Given the description of an element on the screen output the (x, y) to click on. 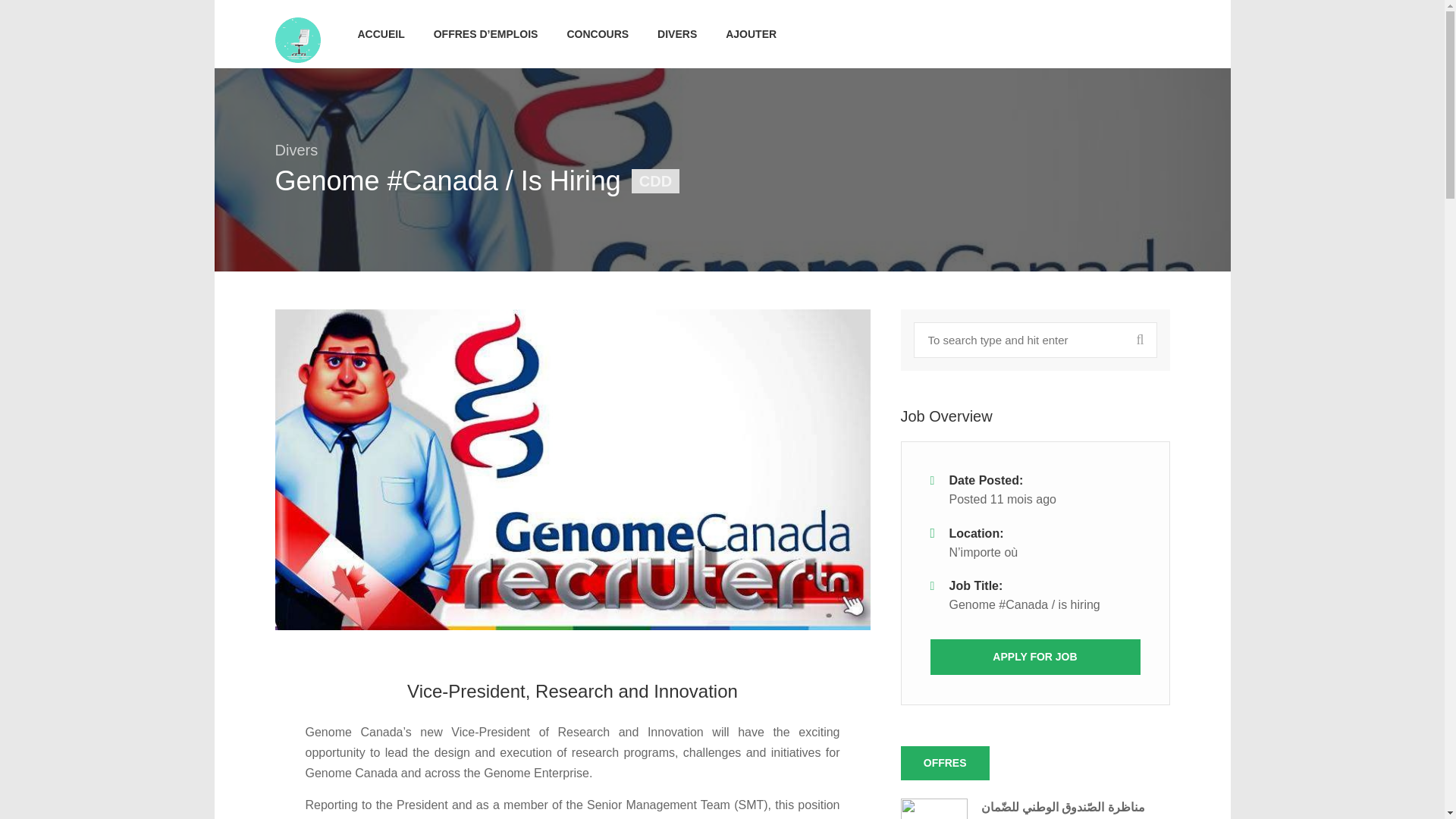
ACCUEIL (380, 33)
Offres d'emploi (297, 40)
Recent Posts (945, 763)
